Given the description of an element on the screen output the (x, y) to click on. 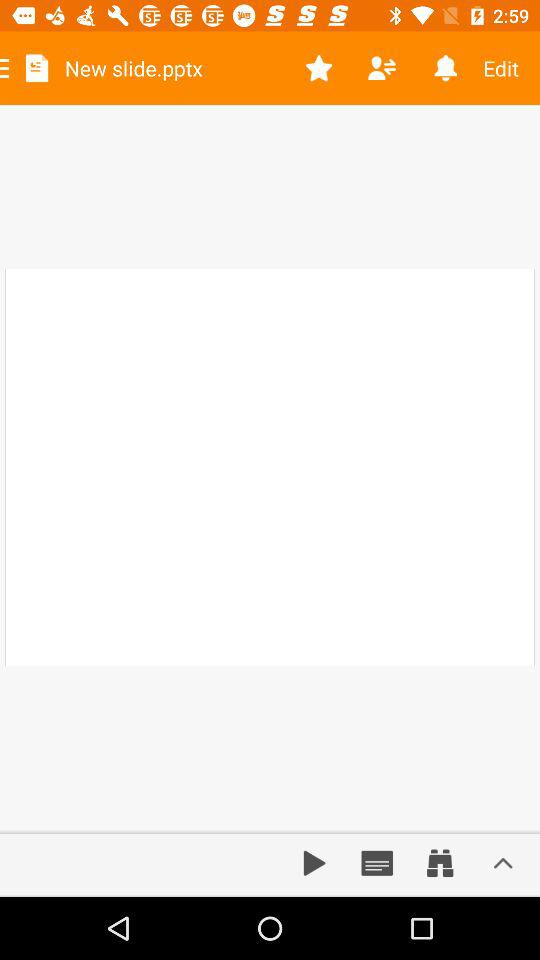
tap the edit item (508, 68)
